Given the description of an element on the screen output the (x, y) to click on. 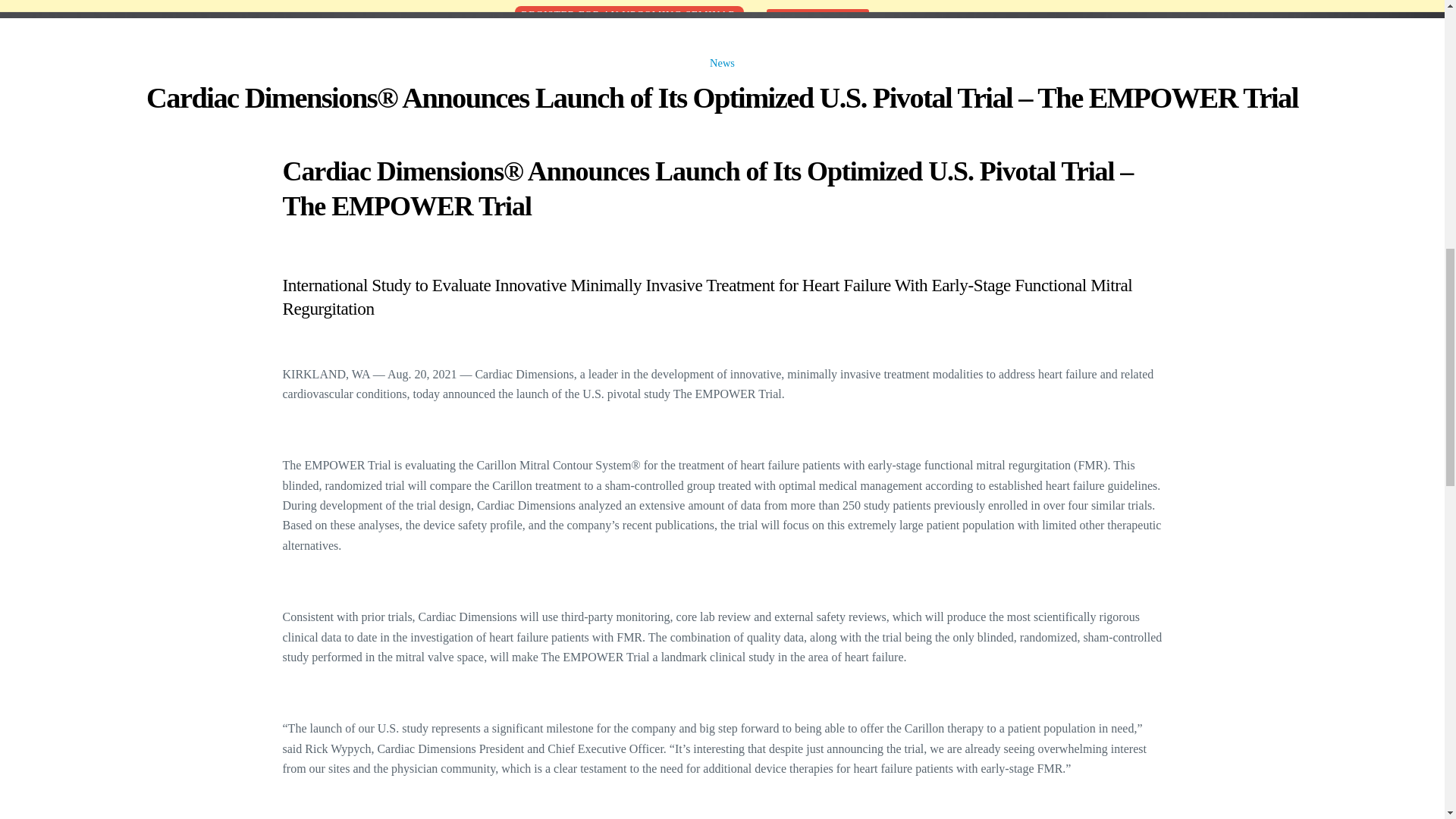
News (722, 62)
